Given the description of an element on the screen output the (x, y) to click on. 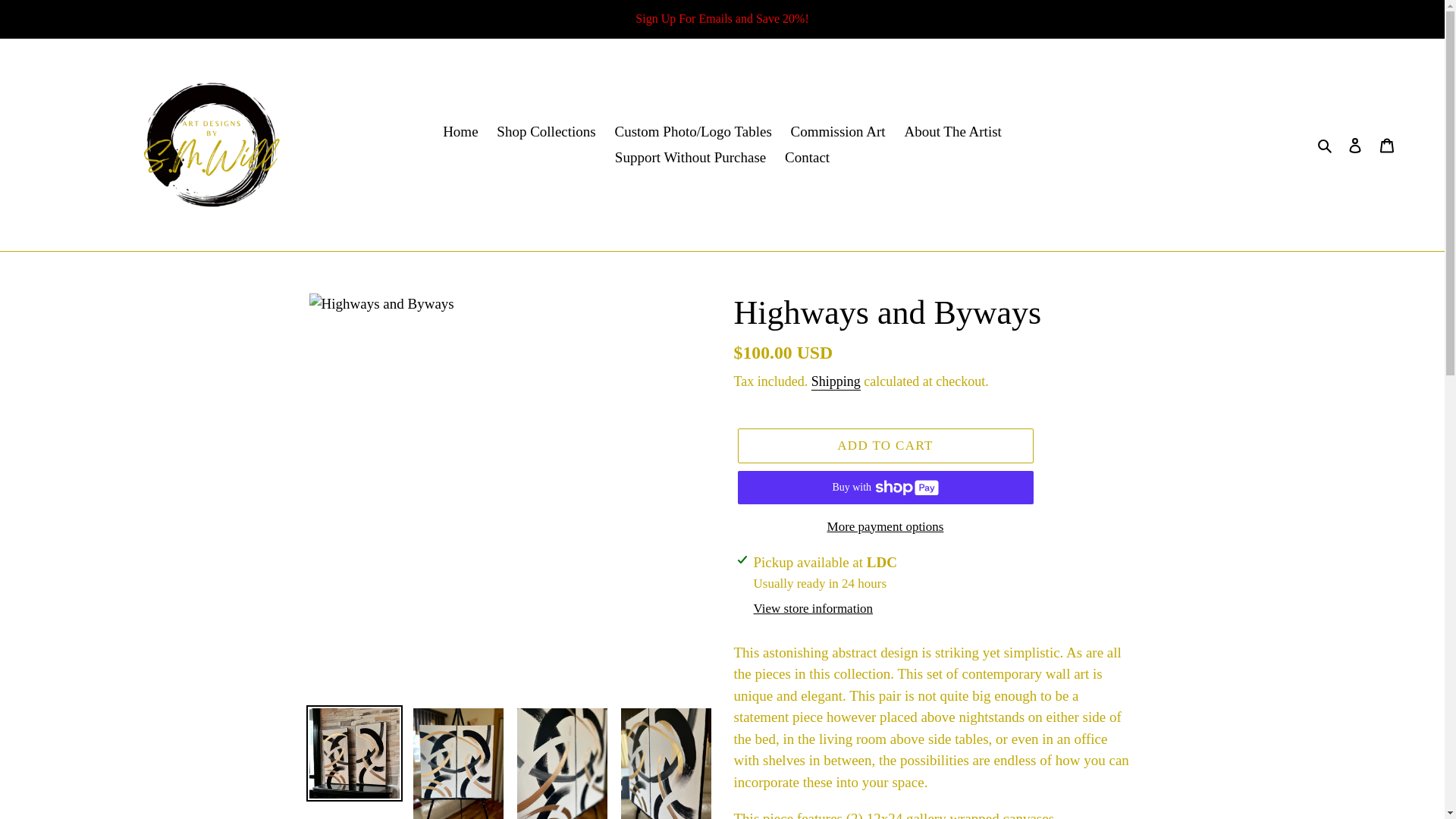
Contact (807, 157)
Shipping (835, 381)
Log in (1355, 144)
About The Artist (952, 130)
Commission Art (838, 130)
Shop Collections (545, 130)
Cart (1387, 144)
Support Without Purchase (690, 157)
Search (1326, 145)
Home (459, 130)
